Given the description of an element on the screen output the (x, y) to click on. 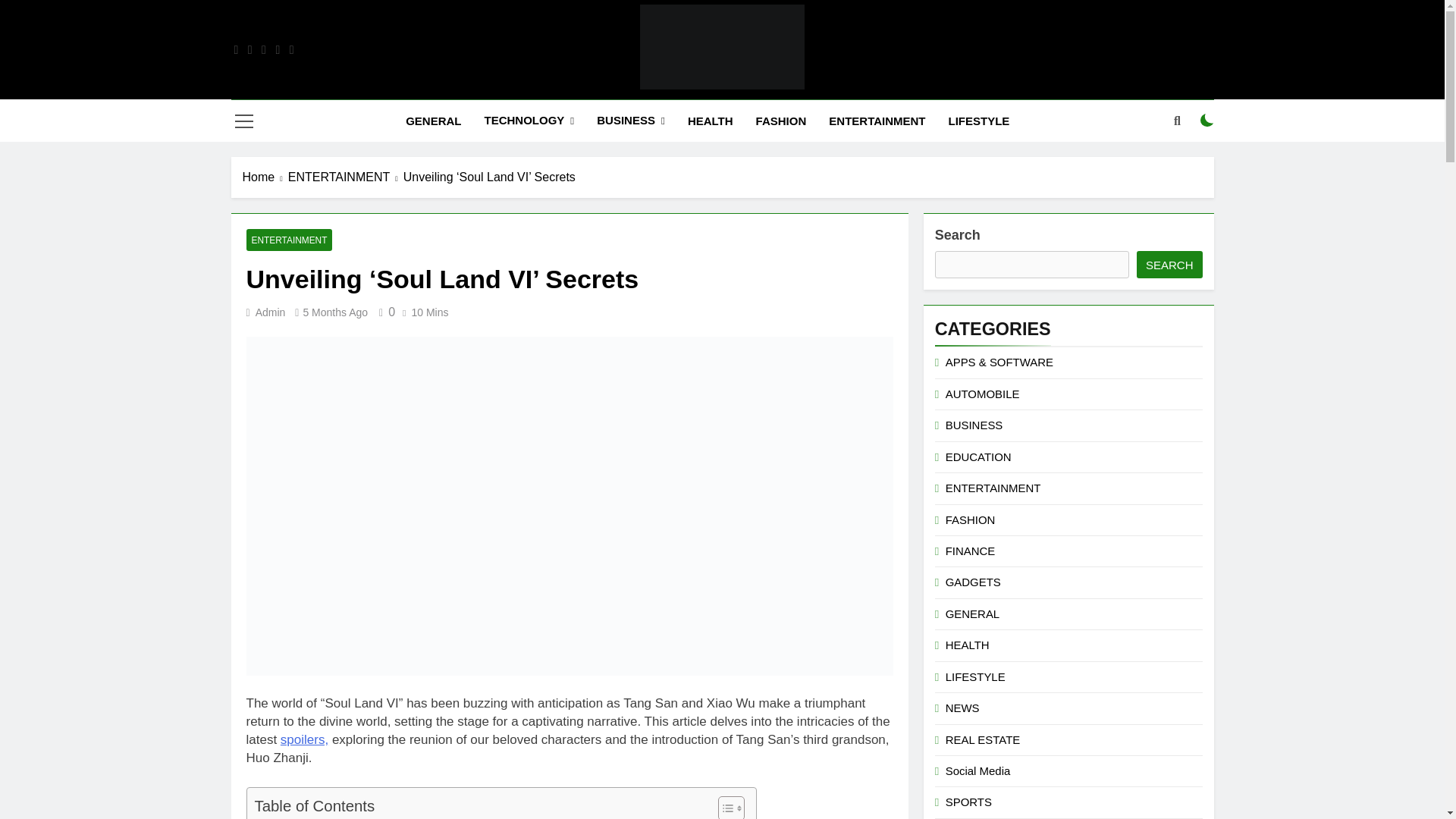
HEALTH (710, 120)
Home (265, 177)
TECHNOLOGY (528, 120)
5 Months Ago (335, 312)
Actorwish (555, 111)
Admin (270, 312)
0 (384, 311)
on (1206, 120)
BUSINESS (631, 120)
ENTERTAINMENT (345, 177)
GENERAL (432, 120)
FASHION (781, 120)
LIFESTYLE (979, 120)
ENTERTAINMENT (288, 239)
ENTERTAINMENT (876, 120)
